Given the description of an element on the screen output the (x, y) to click on. 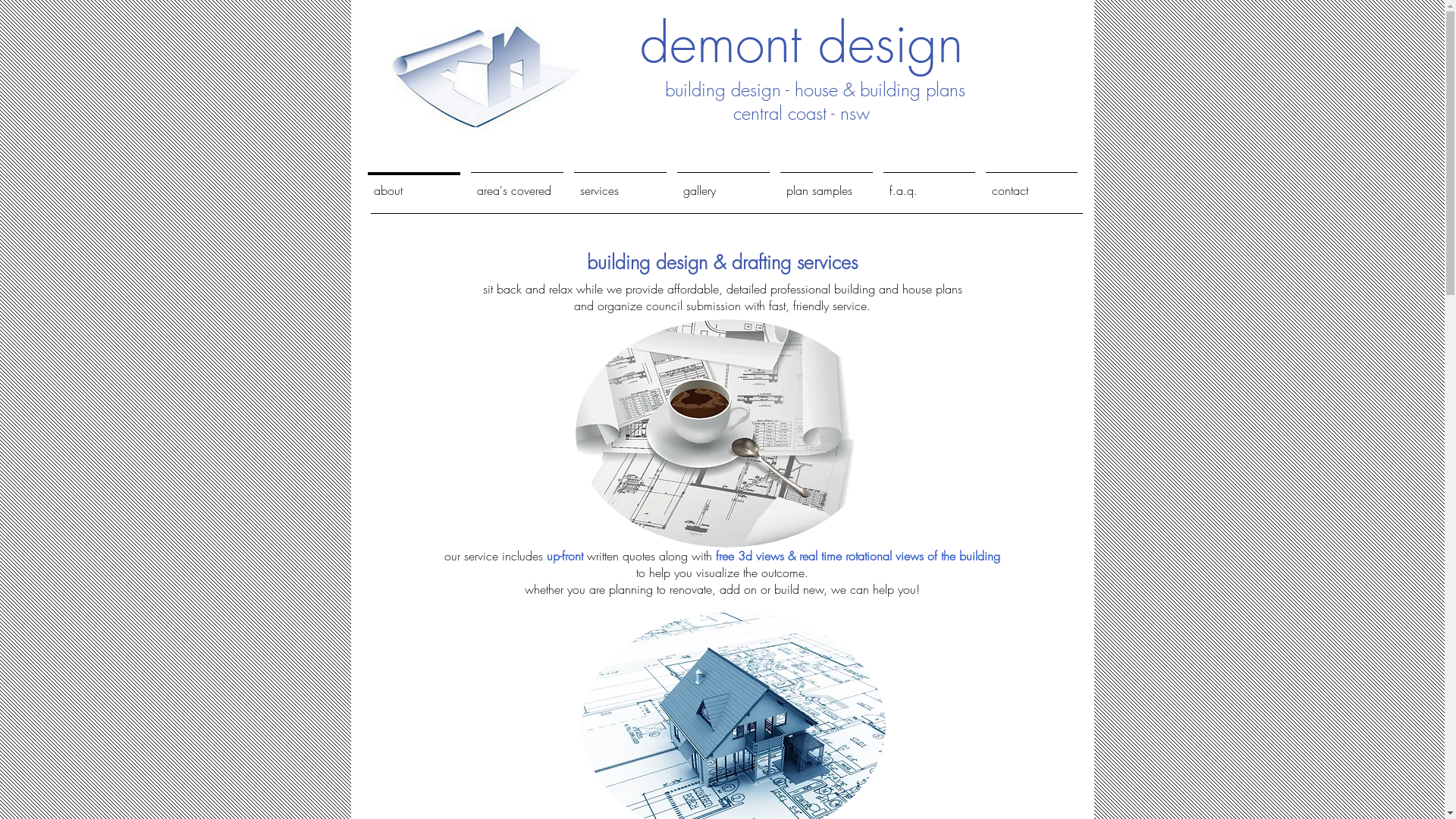
contact Element type: text (1030, 183)
services Element type: text (619, 183)
area's covered Element type: text (516, 183)
gallery Element type: text (723, 183)
plan samples Element type: text (826, 183)
f.a.q. Element type: text (929, 183)
about Element type: text (413, 183)
